Given the description of an element on the screen output the (x, y) to click on. 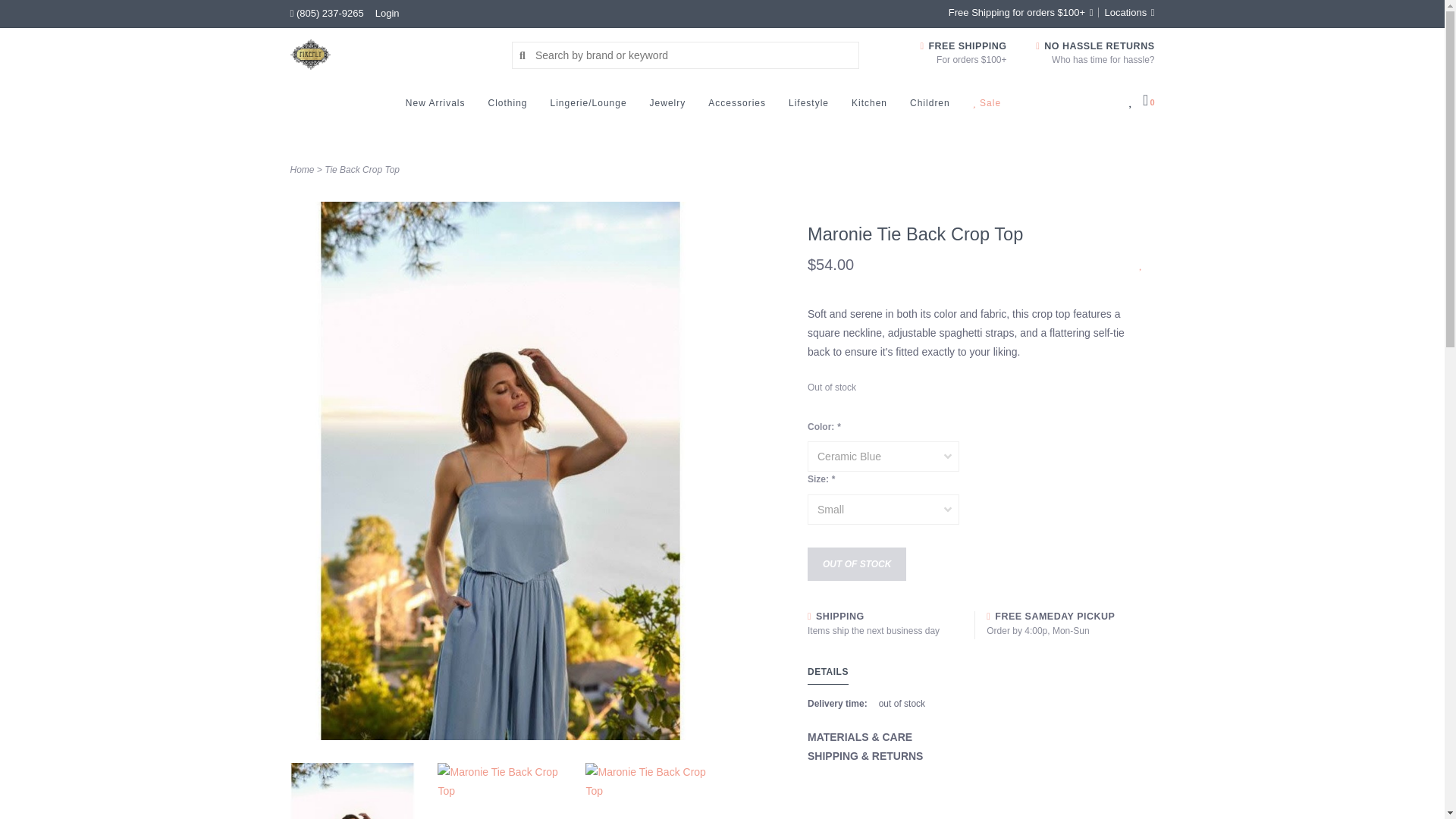
Login (386, 12)
My account (386, 12)
Clothing (510, 107)
Locations (1125, 12)
Clothing (510, 107)
New Arrivals (439, 107)
Firefly Paso Robles (389, 54)
